Given the description of an element on the screen output the (x, y) to click on. 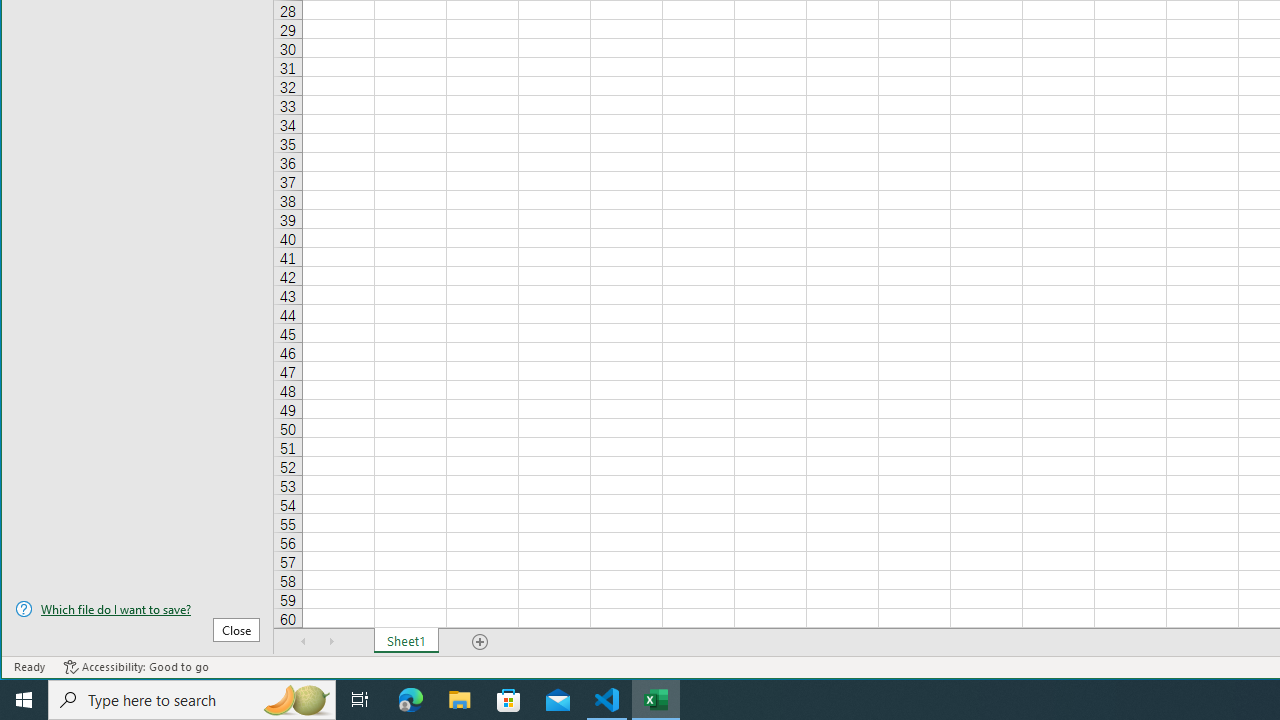
File Explorer (460, 699)
Microsoft Edge (411, 699)
Type here to search (191, 699)
Visual Studio Code - 1 running window (607, 699)
Microsoft Store (509, 699)
Search highlights icon opens search home window (295, 699)
Start (24, 699)
Task View (359, 699)
